Given the description of an element on the screen output the (x, y) to click on. 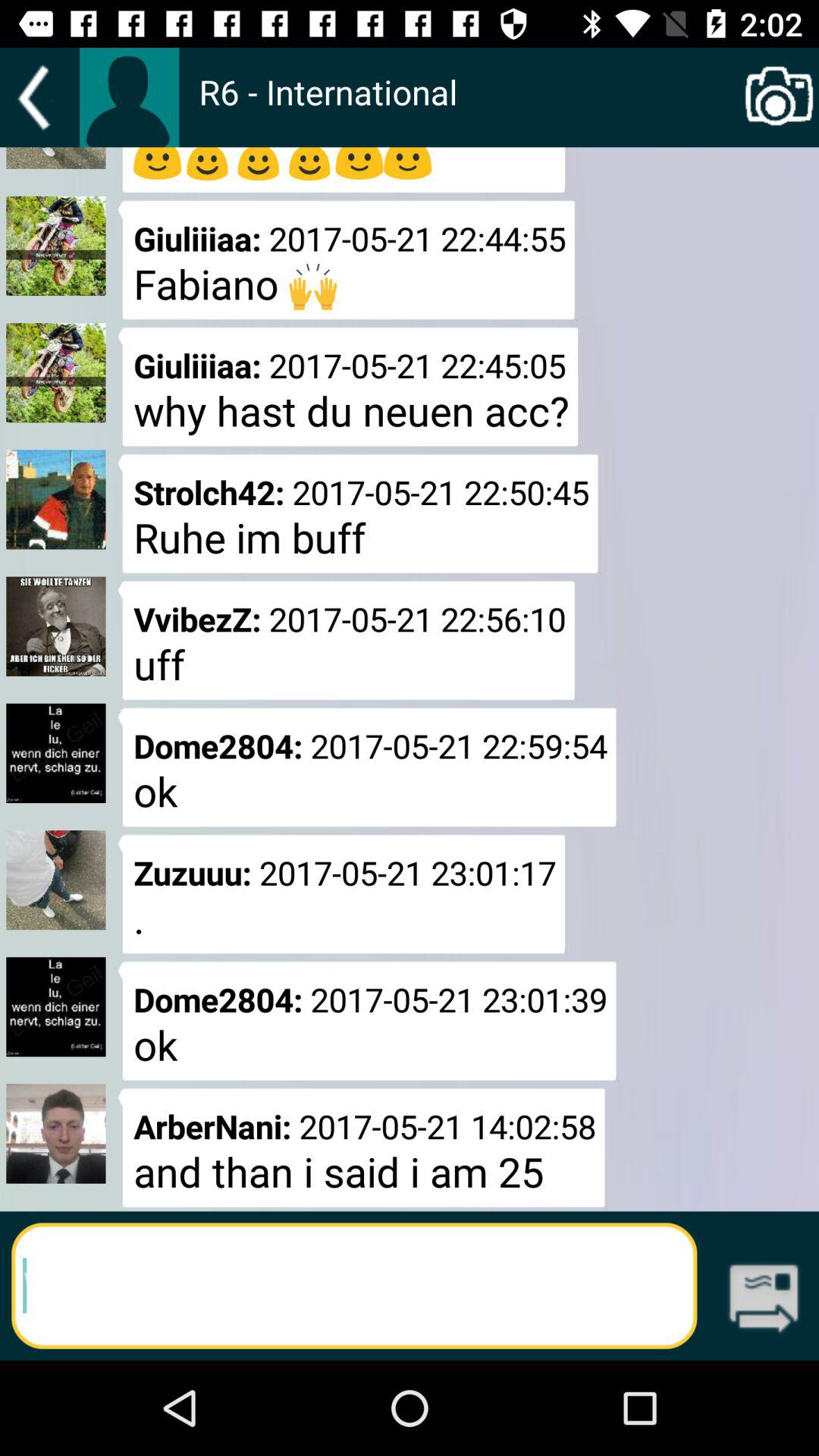
go to previous page (39, 97)
